Given the description of an element on the screen output the (x, y) to click on. 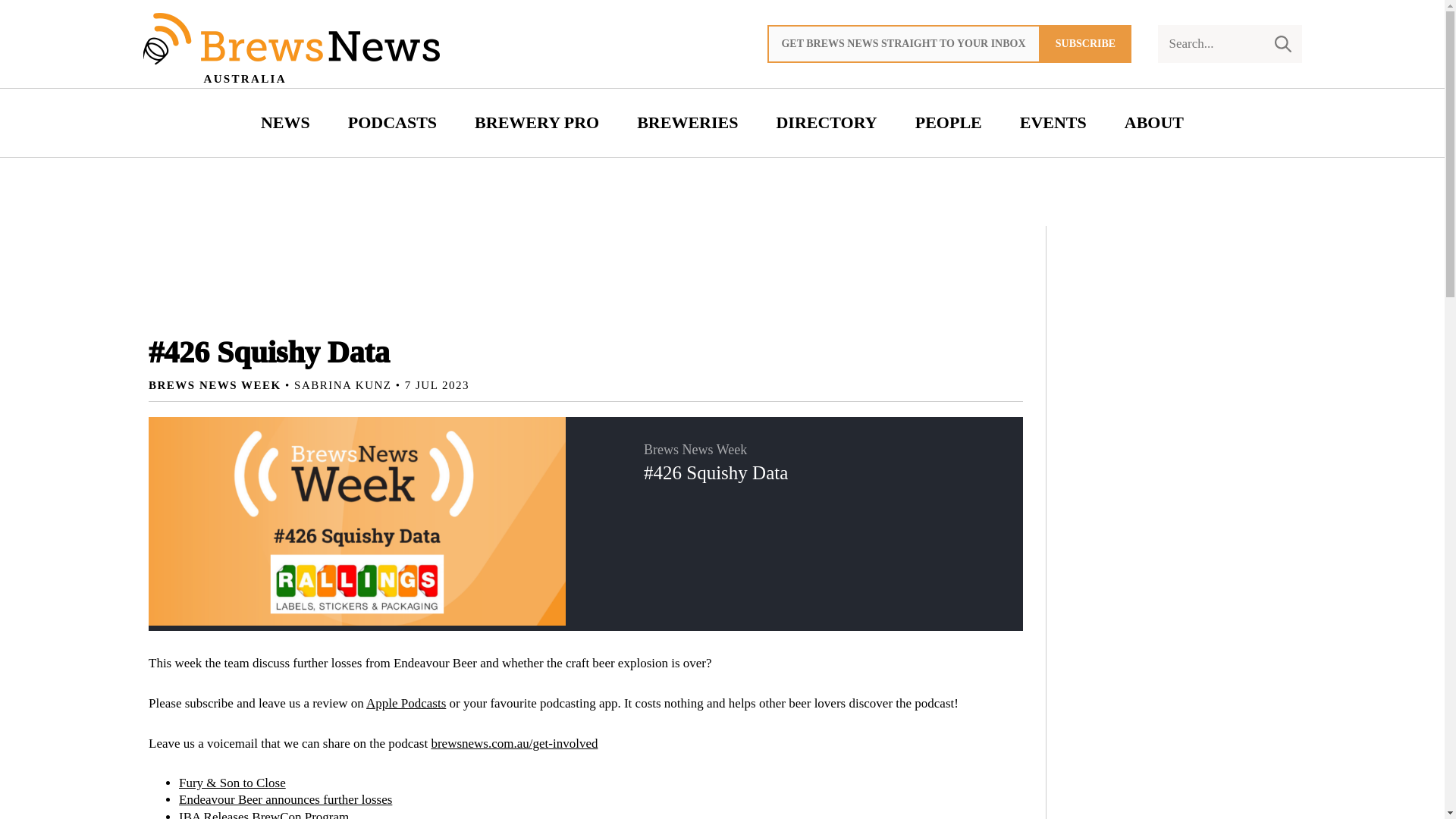
EVENTS (1053, 122)
SEARCH (1282, 44)
BREWERY PRO (536, 122)
NEWS (284, 122)
Apple Podcasts (405, 703)
Endeavour Beer announces further losses (285, 799)
Subscribe (1086, 44)
BREWERIES (687, 122)
ABOUT (1154, 122)
PEOPLE (948, 122)
PODCASTS (392, 122)
IBA Releases BrewCon Program (264, 814)
Subscribe (1086, 44)
DIRECTORY (826, 122)
